Given the description of an element on the screen output the (x, y) to click on. 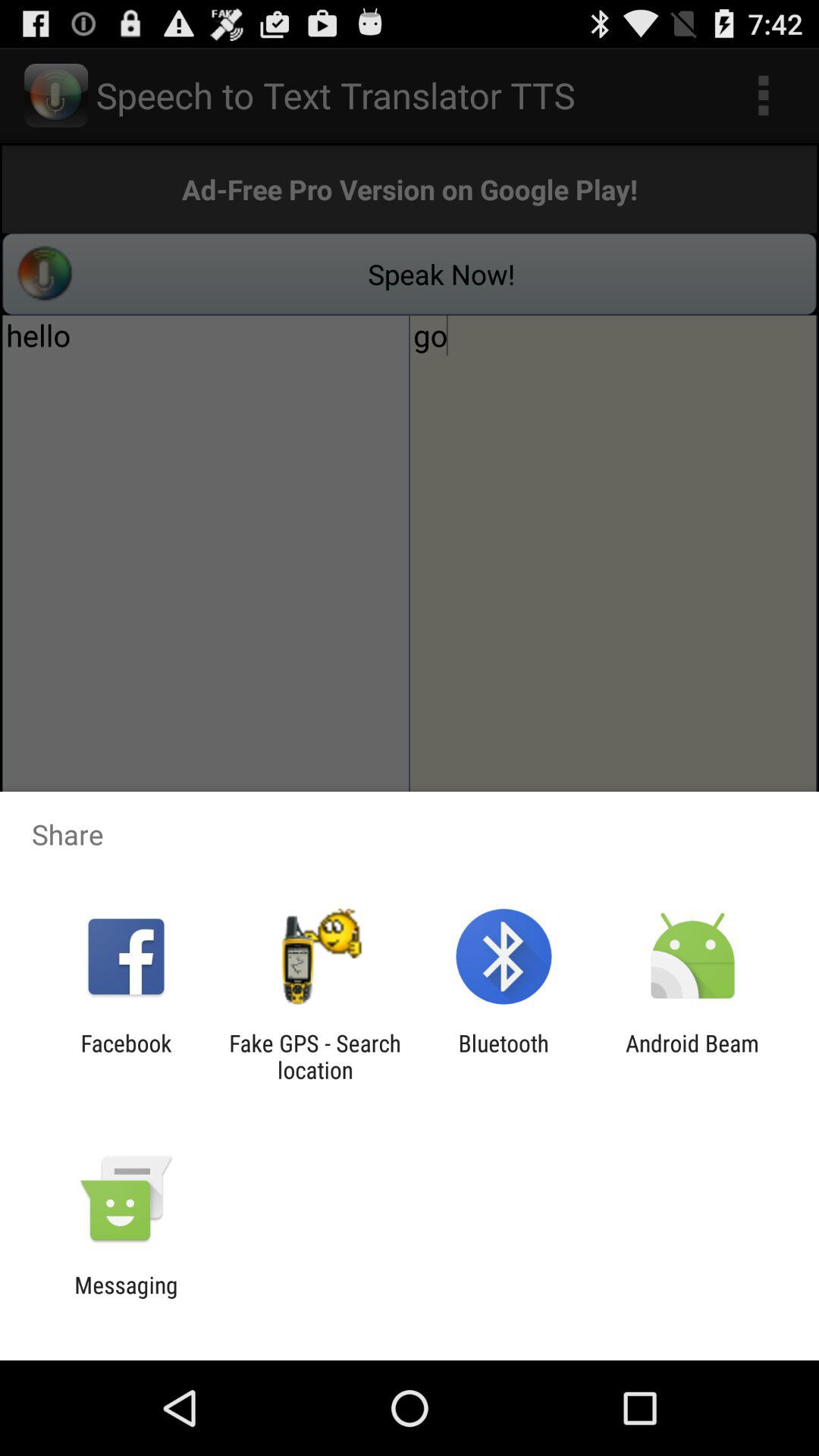
tap app at the bottom right corner (692, 1056)
